Given the description of an element on the screen output the (x, y) to click on. 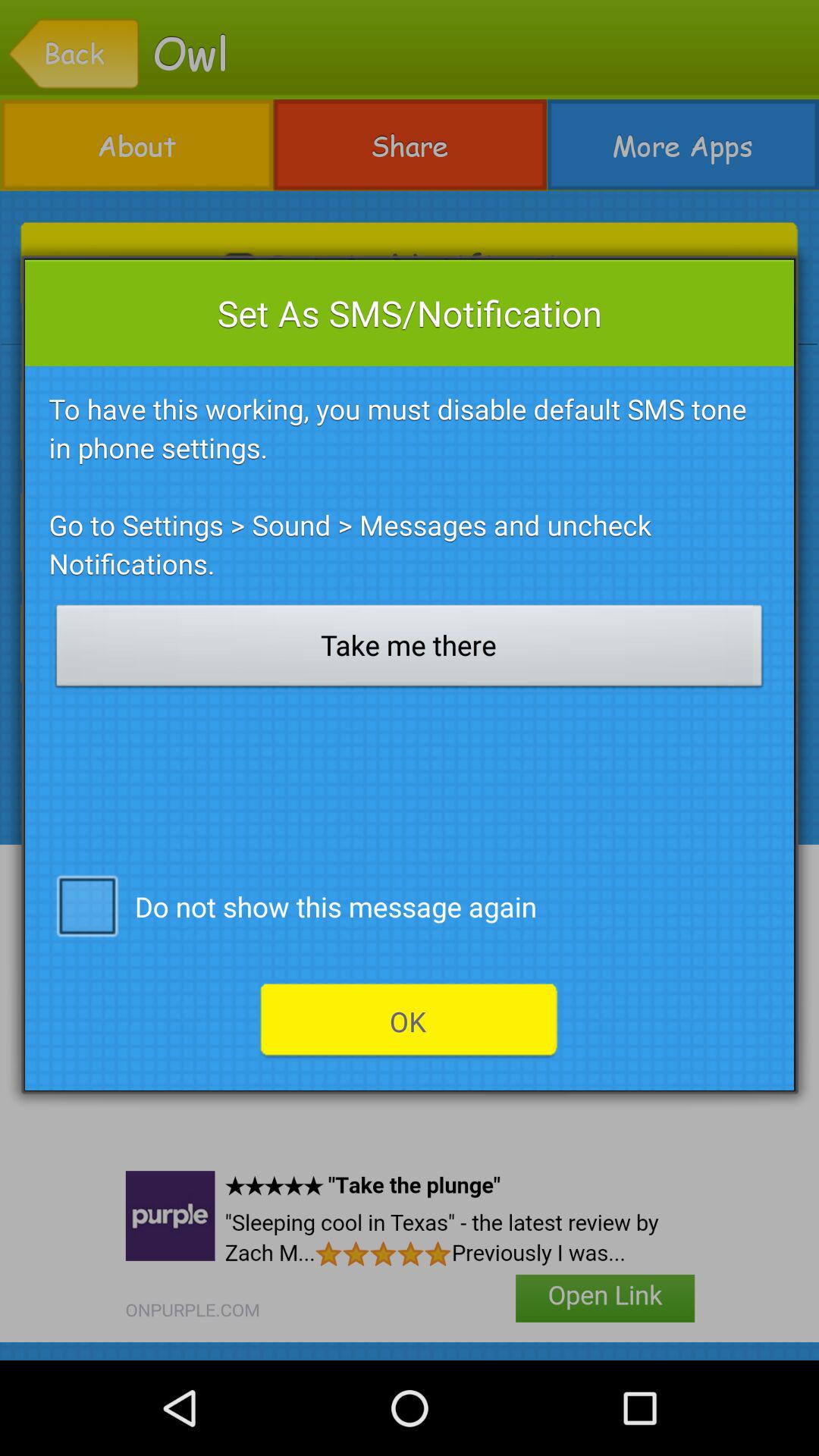
press the icon below the do not show icon (408, 1021)
